Given the description of an element on the screen output the (x, y) to click on. 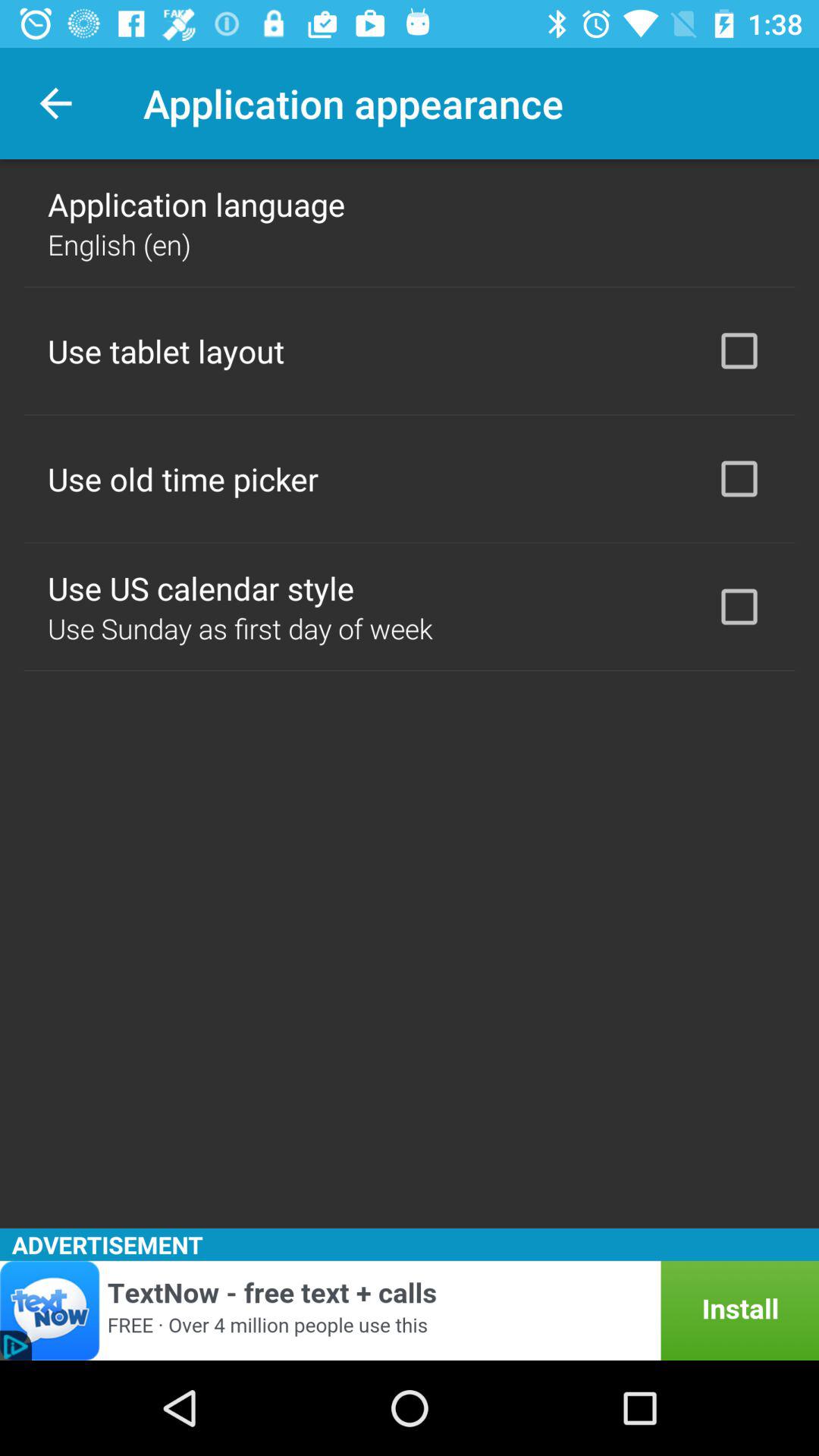
turn off item at the top left corner (55, 103)
